Given the description of an element on the screen output the (x, y) to click on. 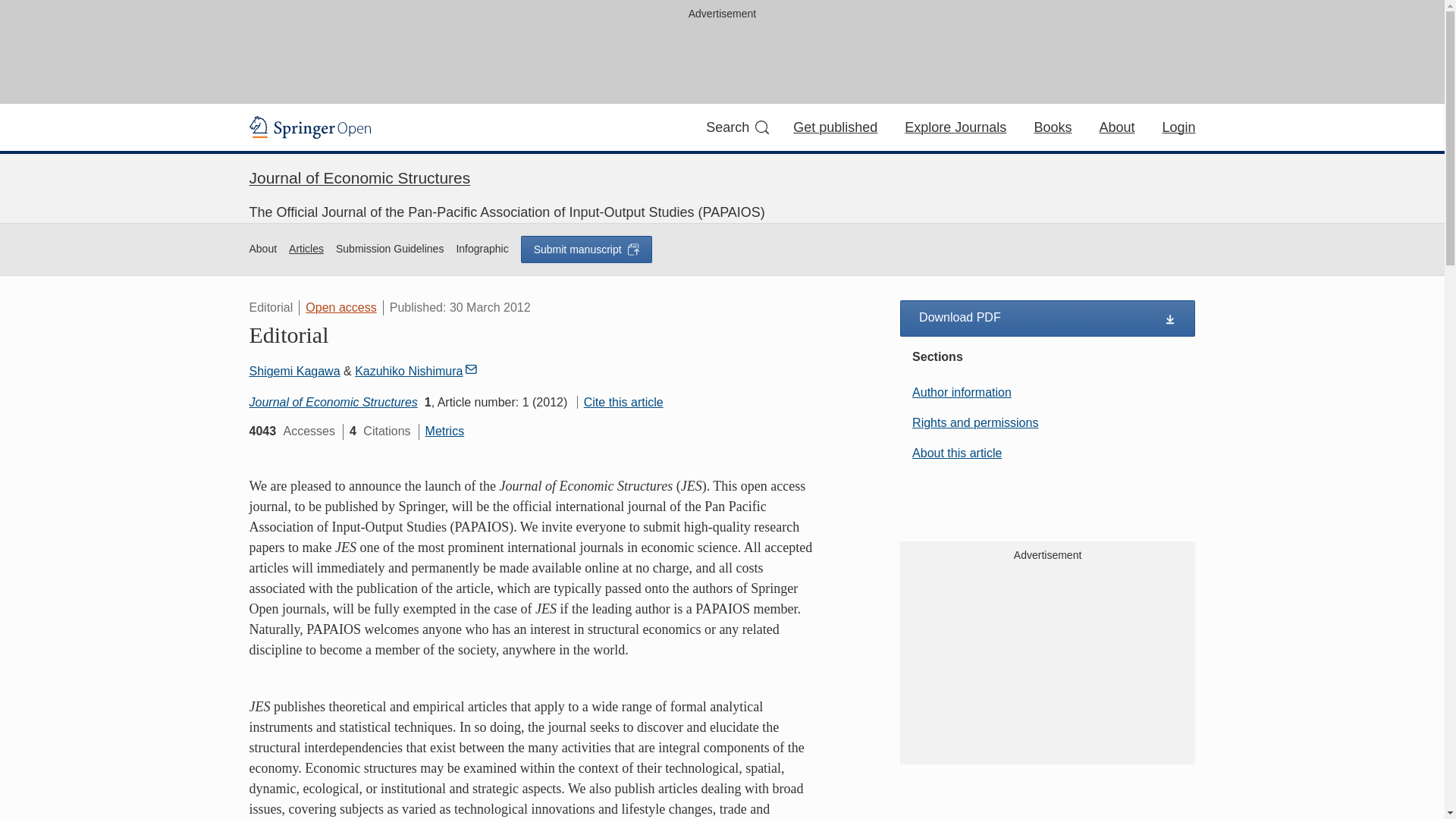
Login (1178, 127)
Get published (835, 127)
Search (737, 127)
Kazuhiko Nishimura (416, 370)
Cite this article (619, 401)
Articles (305, 248)
Metrics (444, 431)
Submission Guidelines (1047, 453)
Infographic (390, 248)
About (481, 248)
Shigemi Kagawa (1116, 127)
Journal of Economic Structures (293, 370)
Books (359, 177)
Explore Journals (1052, 127)
